Given the description of an element on the screen output the (x, y) to click on. 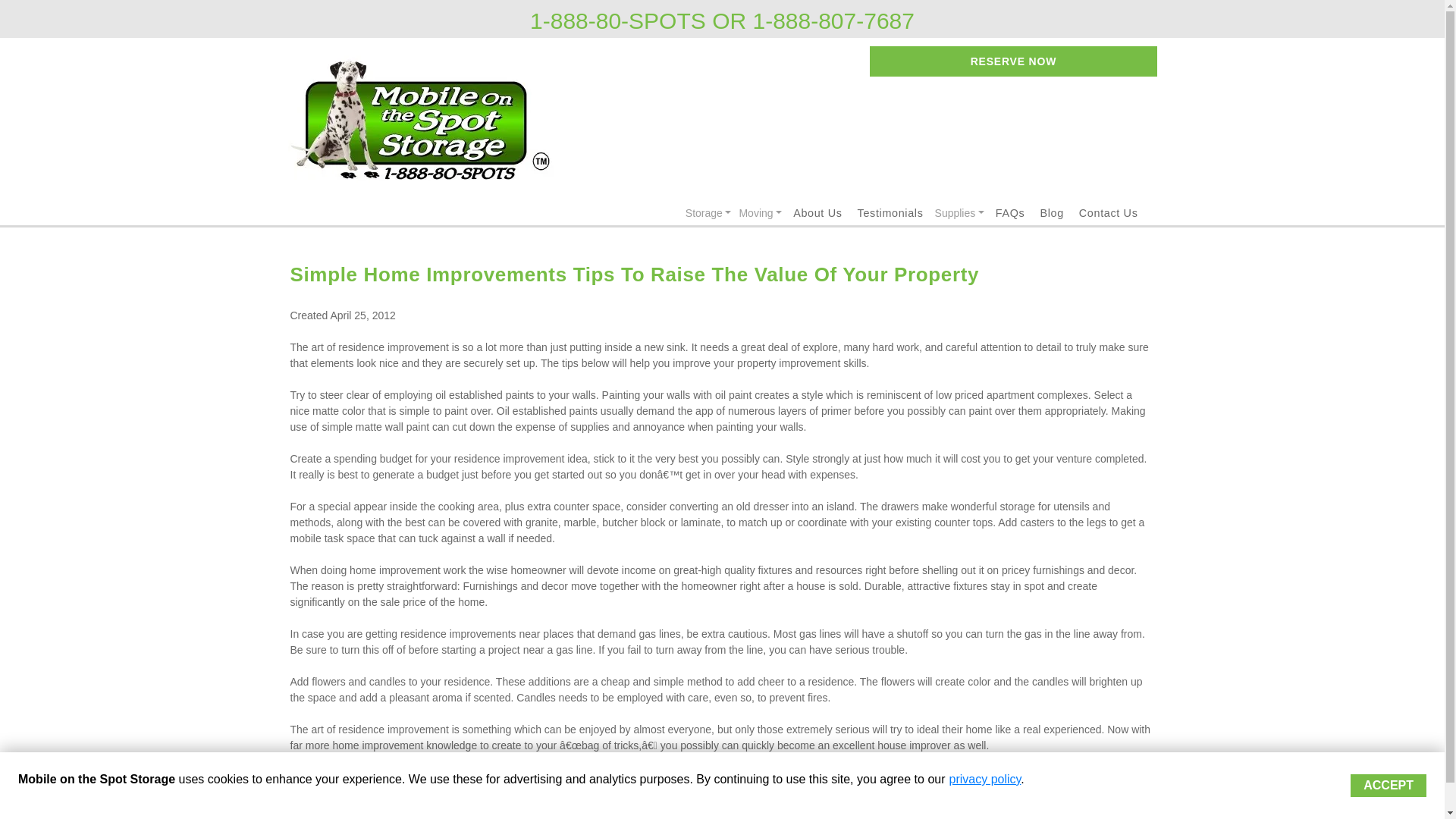
RESERVE NOW (1012, 60)
Supplies (959, 213)
Terms (794, 818)
Moving (760, 213)
Testimonials (890, 213)
privacy policy (985, 779)
ACCEPT (1388, 784)
FAQs (1010, 213)
Powered by (344, 818)
1-888-807-7687 (833, 24)
About Us (817, 213)
Privacy (833, 818)
Blog (1050, 213)
Admin (1138, 818)
1-888-80-SPOTS (617, 24)
